Given the description of an element on the screen output the (x, y) to click on. 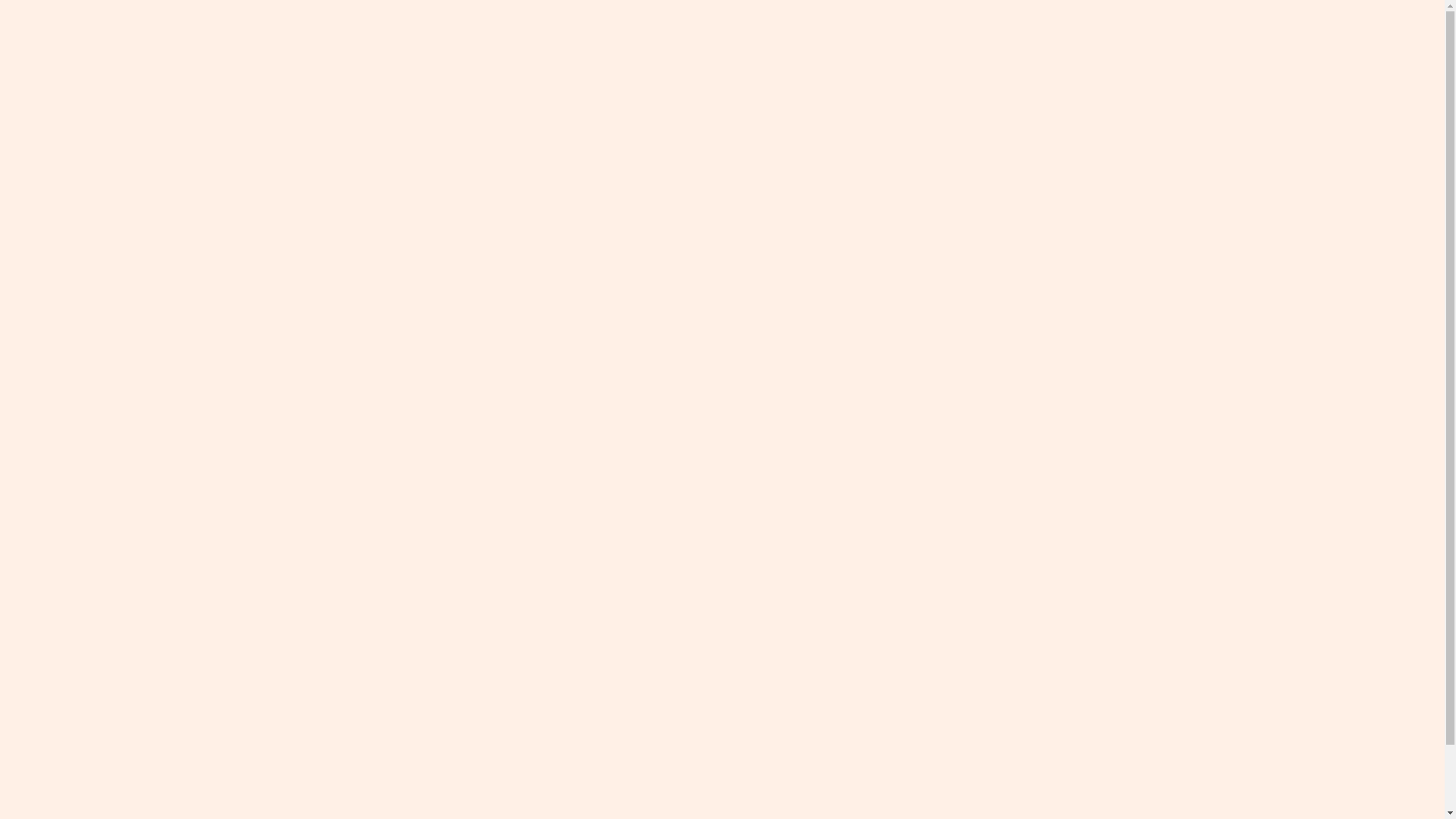
Learn more about troubleshooting WordPress. Element type: text (590, 112)
